Given the description of an element on the screen output the (x, y) to click on. 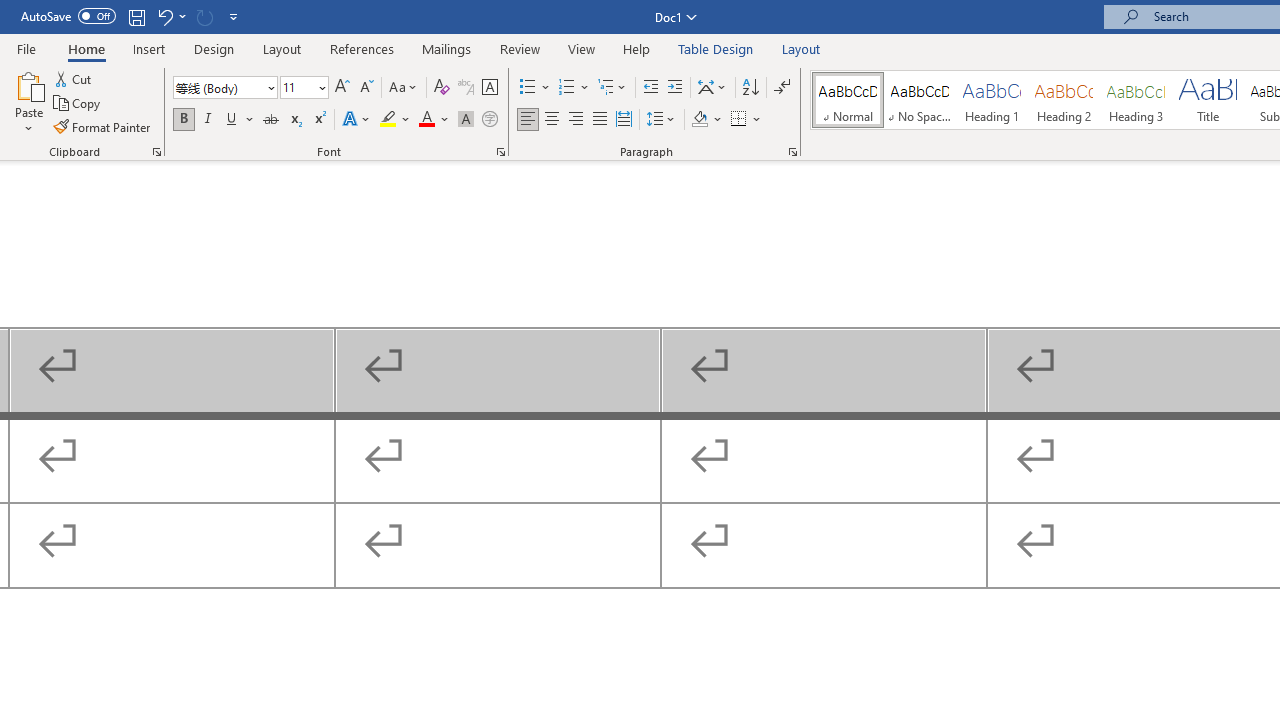
Title (1208, 100)
Heading 3 (1135, 100)
